Given the description of an element on the screen output the (x, y) to click on. 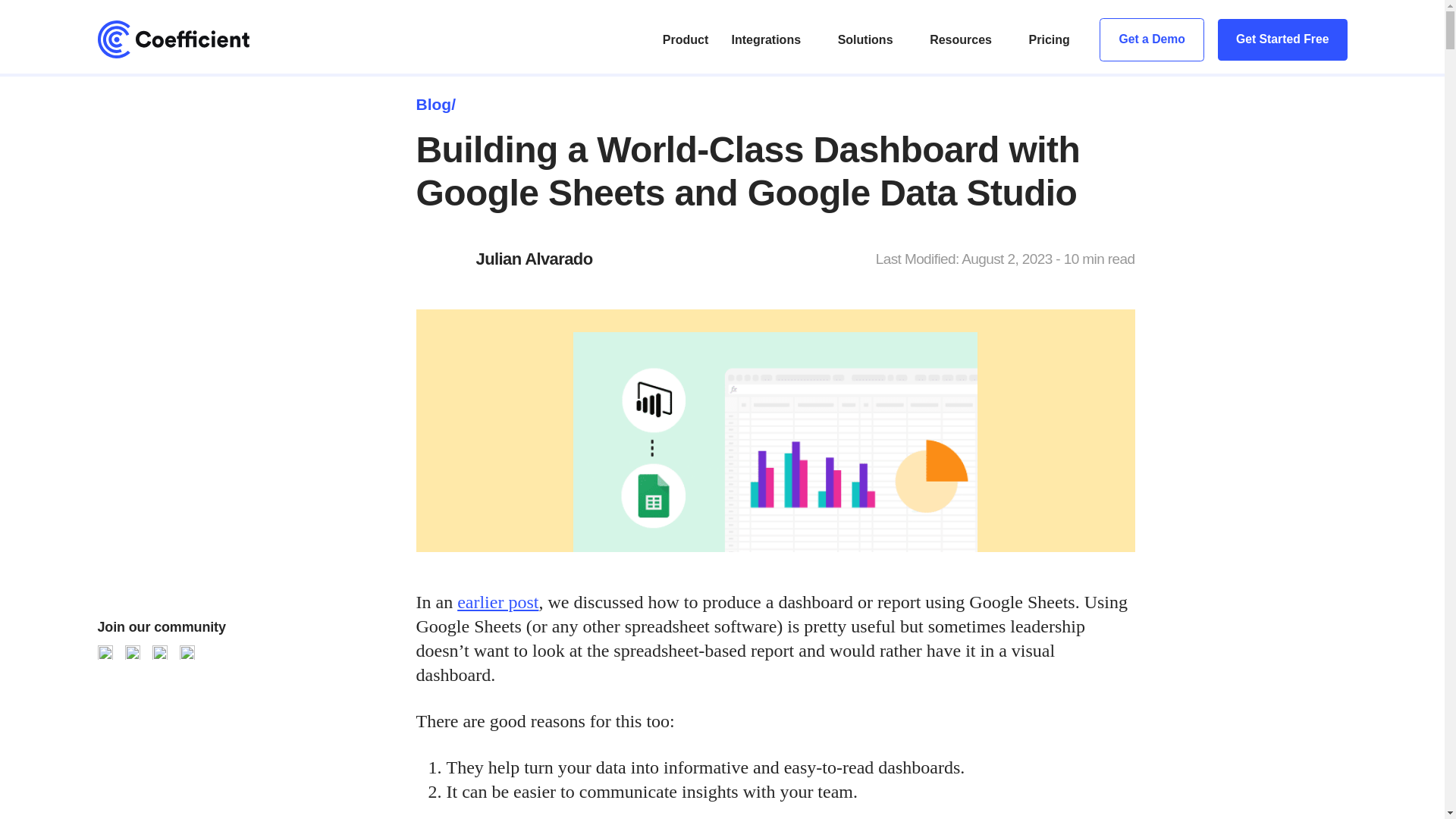
Get a Demo (1151, 39)
earlier post (497, 601)
LinkedIn (186, 652)
Twitter (131, 652)
Product (684, 39)
Home (189, 39)
YouTube (104, 652)
Get Started Free (1282, 39)
Solutions (865, 39)
Facebook (159, 652)
